Given the description of an element on the screen output the (x, y) to click on. 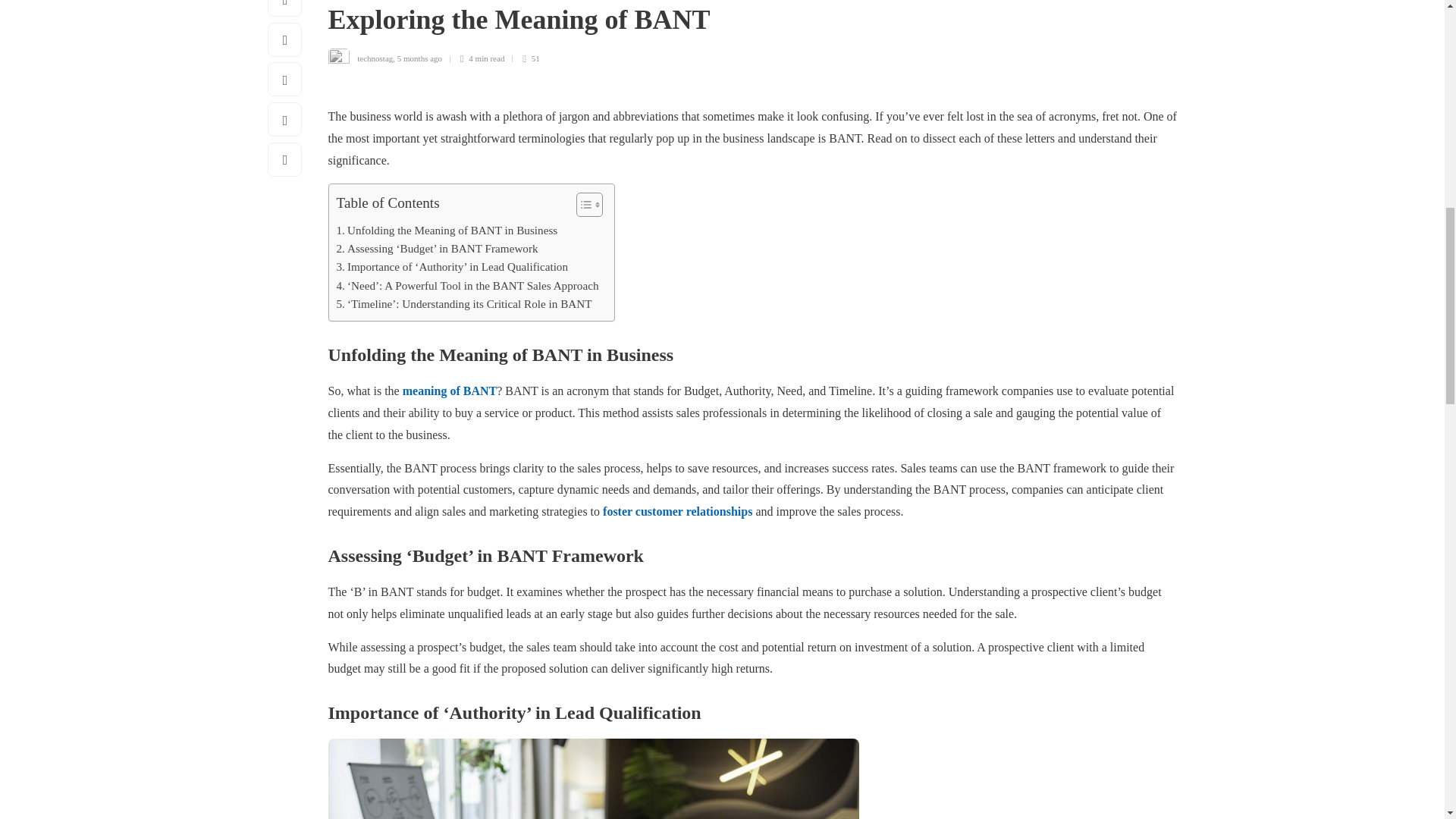
Unfolding the Meaning of BANT in Business (446, 230)
